Given the description of an element on the screen output the (x, y) to click on. 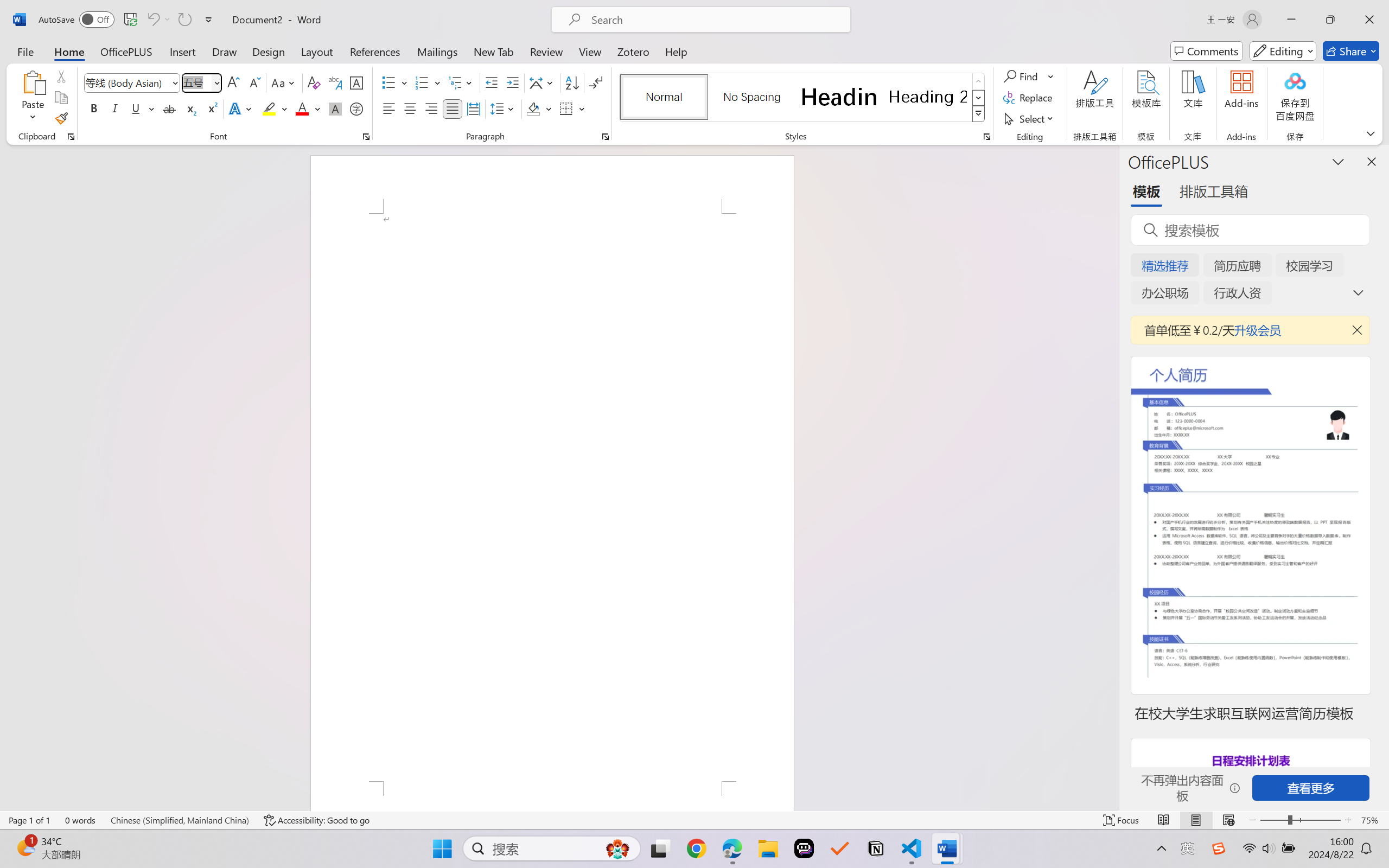
AutomationID: DynamicSearchBoxGleamImage (617, 848)
AutoSave (76, 19)
Justify (452, 108)
Italic (115, 108)
Print Layout (1196, 819)
Select (1030, 118)
Phonetic Guide... (334, 82)
Design (268, 51)
Comments (1206, 50)
Page Number Page 1 of 1 (29, 819)
Font Size (196, 82)
